Given the description of an element on the screen output the (x, y) to click on. 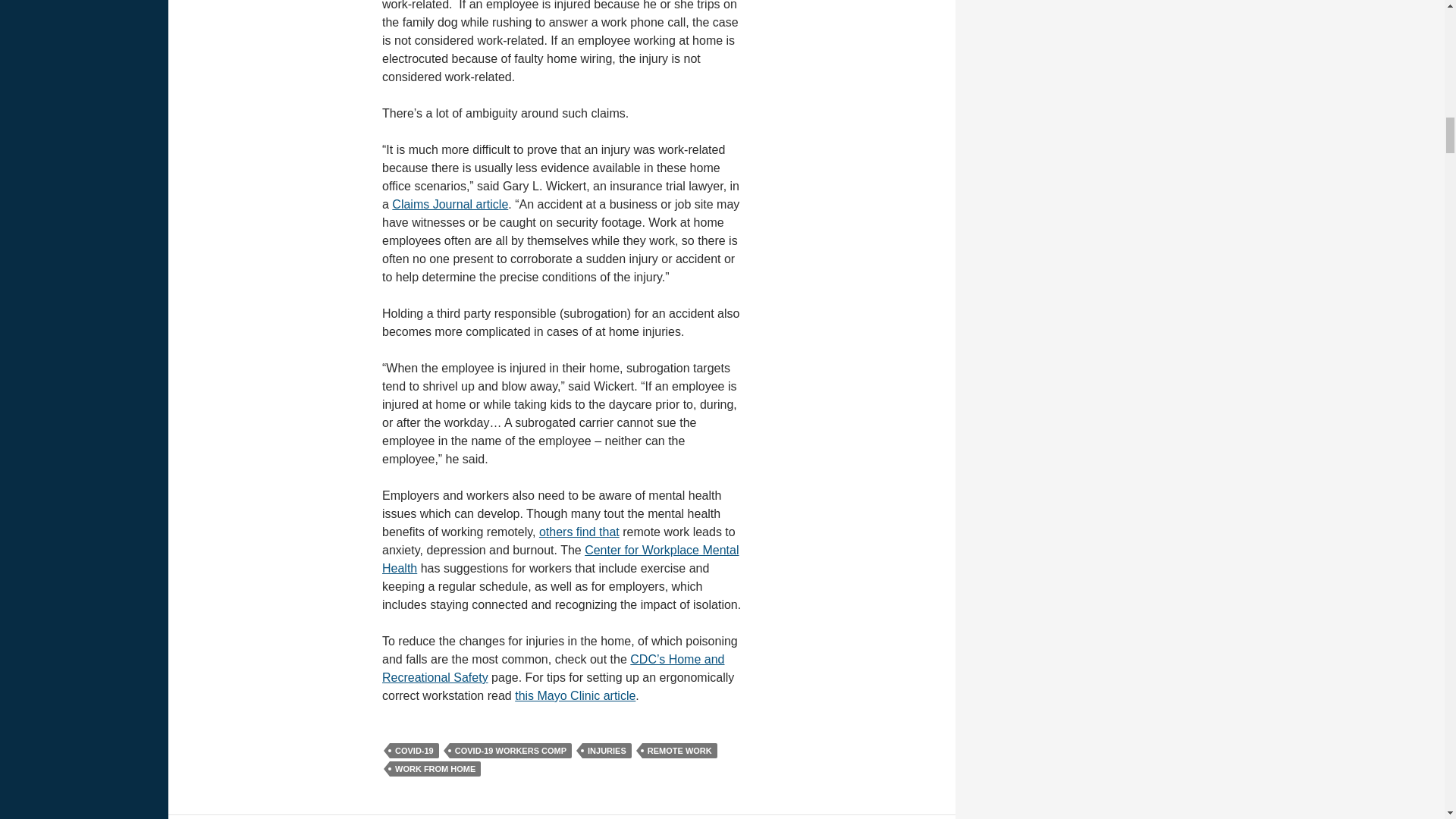
COVID-19 (414, 750)
this Mayo Clinic article (574, 695)
Center for Workplace Mental Health (559, 558)
Claims Journal article (449, 204)
others find that (579, 531)
